Given the description of an element on the screen output the (x, y) to click on. 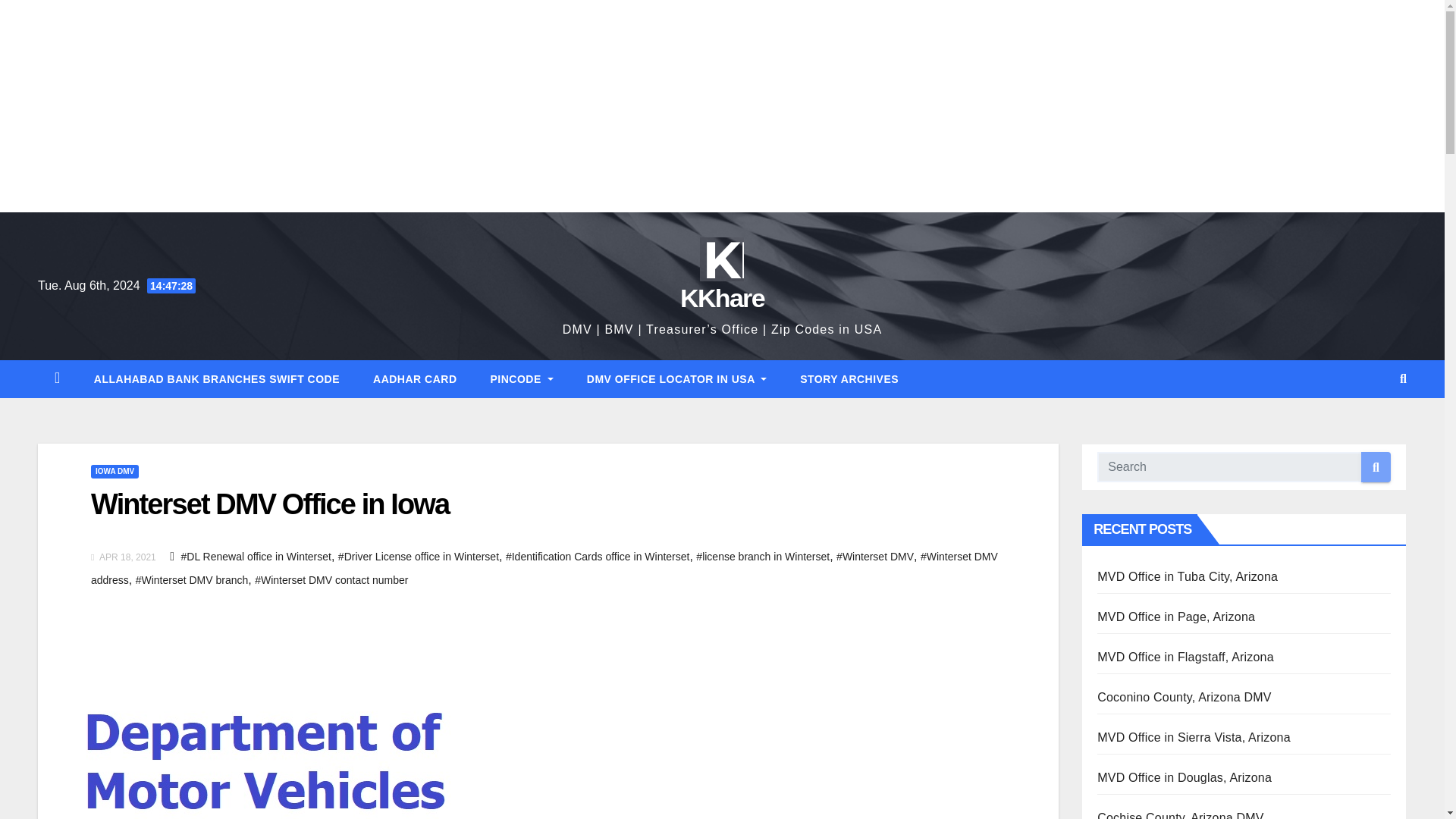
Allahabad Bank Branches Swift Code (216, 379)
Aadhar Card (415, 379)
DMV Office Locator in USA (676, 379)
IOWA DMV (114, 471)
ALLAHABAD BANK BRANCHES SWIFT CODE (216, 379)
Winterset DMV Office in Iowa (269, 504)
Pincode (522, 379)
AADHAR CARD (415, 379)
STORY ARCHIVES (849, 379)
KKhare (721, 297)
DMV OFFICE LOCATOR IN USA (676, 379)
PINCODE (522, 379)
Story Archives (849, 379)
